Given the description of an element on the screen output the (x, y) to click on. 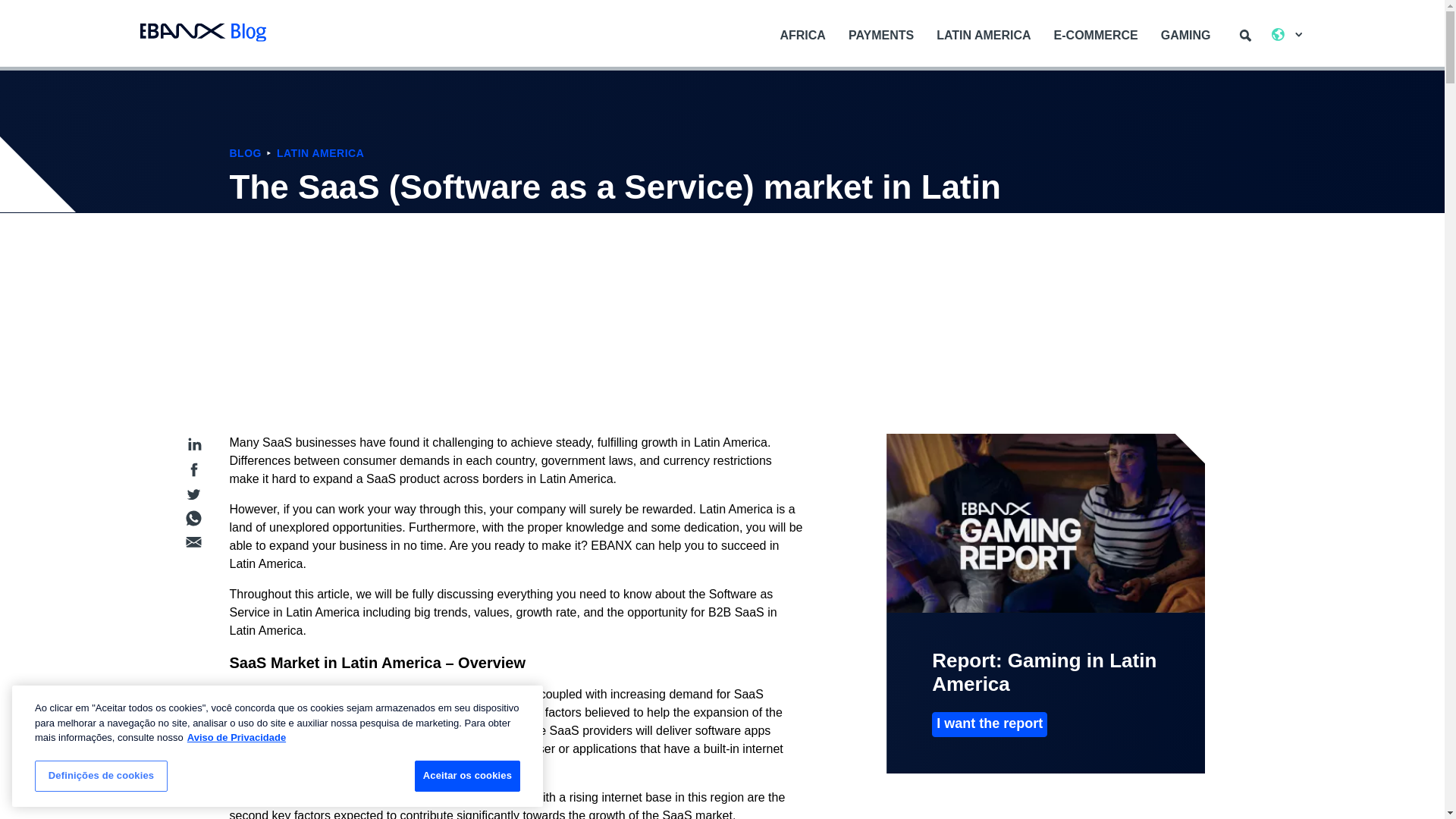
LATIN AMERICA (320, 152)
AFRICA (801, 35)
E-COMMERCE (1096, 35)
BLOG (244, 152)
GAMING (1186, 35)
LATIN AMERICA (983, 35)
PAYMENTS (880, 35)
